Given the description of an element on the screen output the (x, y) to click on. 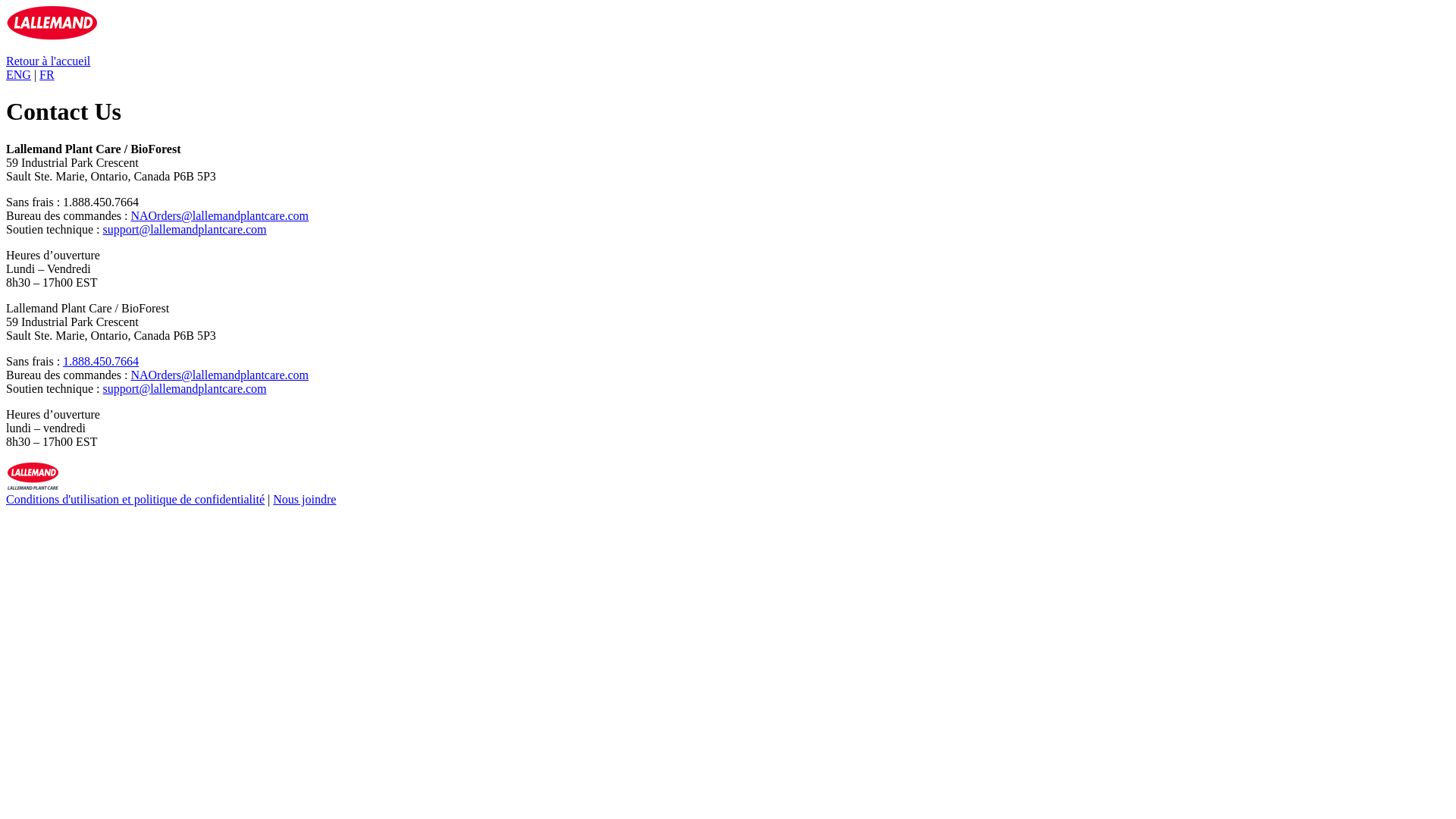
NAOrders@lallemandplantcare.com Element type: text (219, 374)
ENG Element type: text (18, 74)
support@lallemandplantcare.com Element type: text (184, 388)
support@lallemandplantcare.com Element type: text (184, 228)
Lallemand Element type: hover (32, 485)
NAOrders@lallemandplantcare.com Element type: text (219, 215)
Nous joindre Element type: text (304, 498)
FR Element type: text (46, 74)
1.888.450.7664 Element type: text (100, 360)
